Given the description of an element on the screen output the (x, y) to click on. 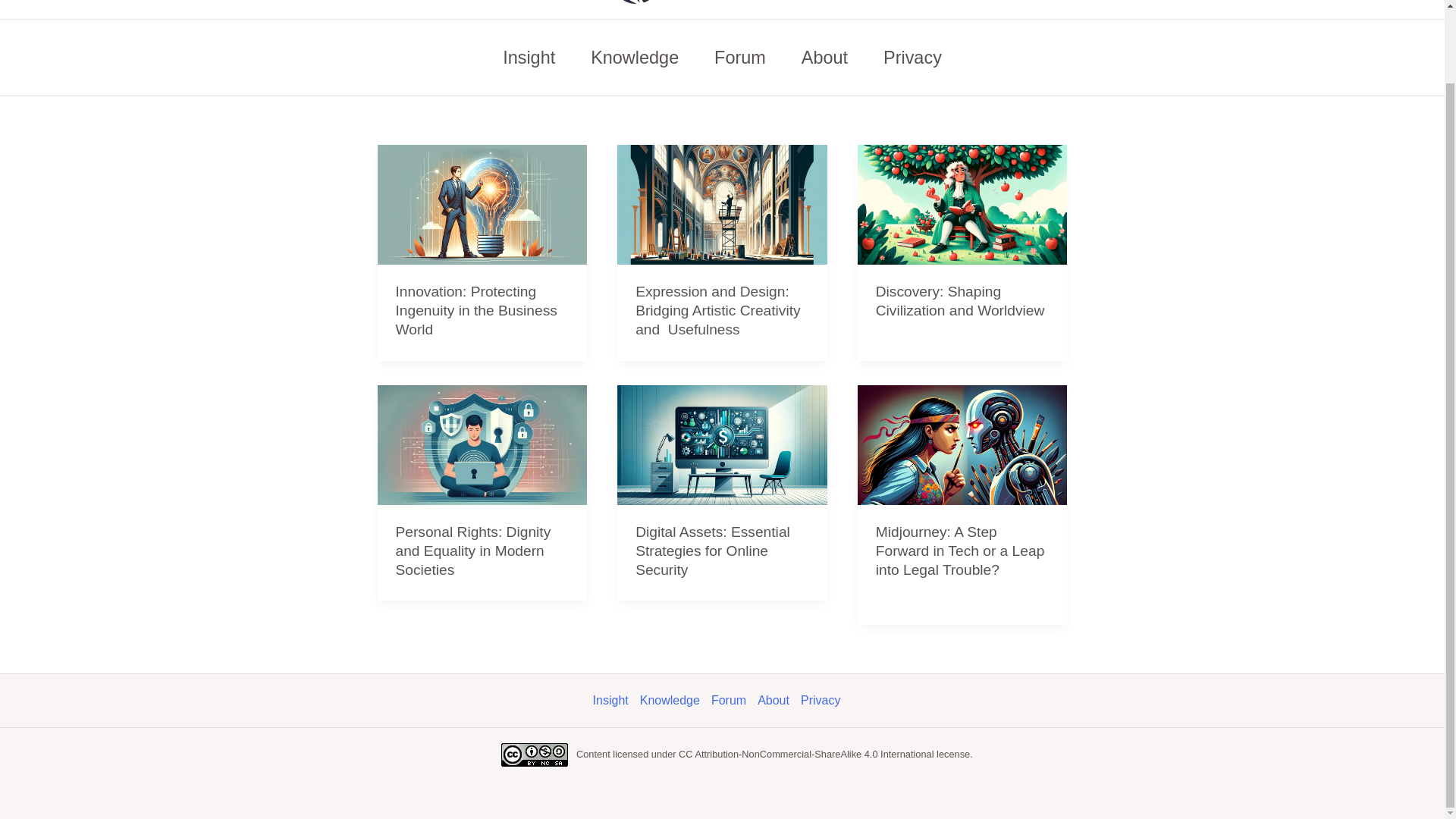
Insight (616, 700)
Privacy (825, 700)
Knowledge (635, 57)
About (823, 57)
Insight (528, 57)
About (778, 700)
Forum (734, 700)
